Given the description of an element on the screen output the (x, y) to click on. 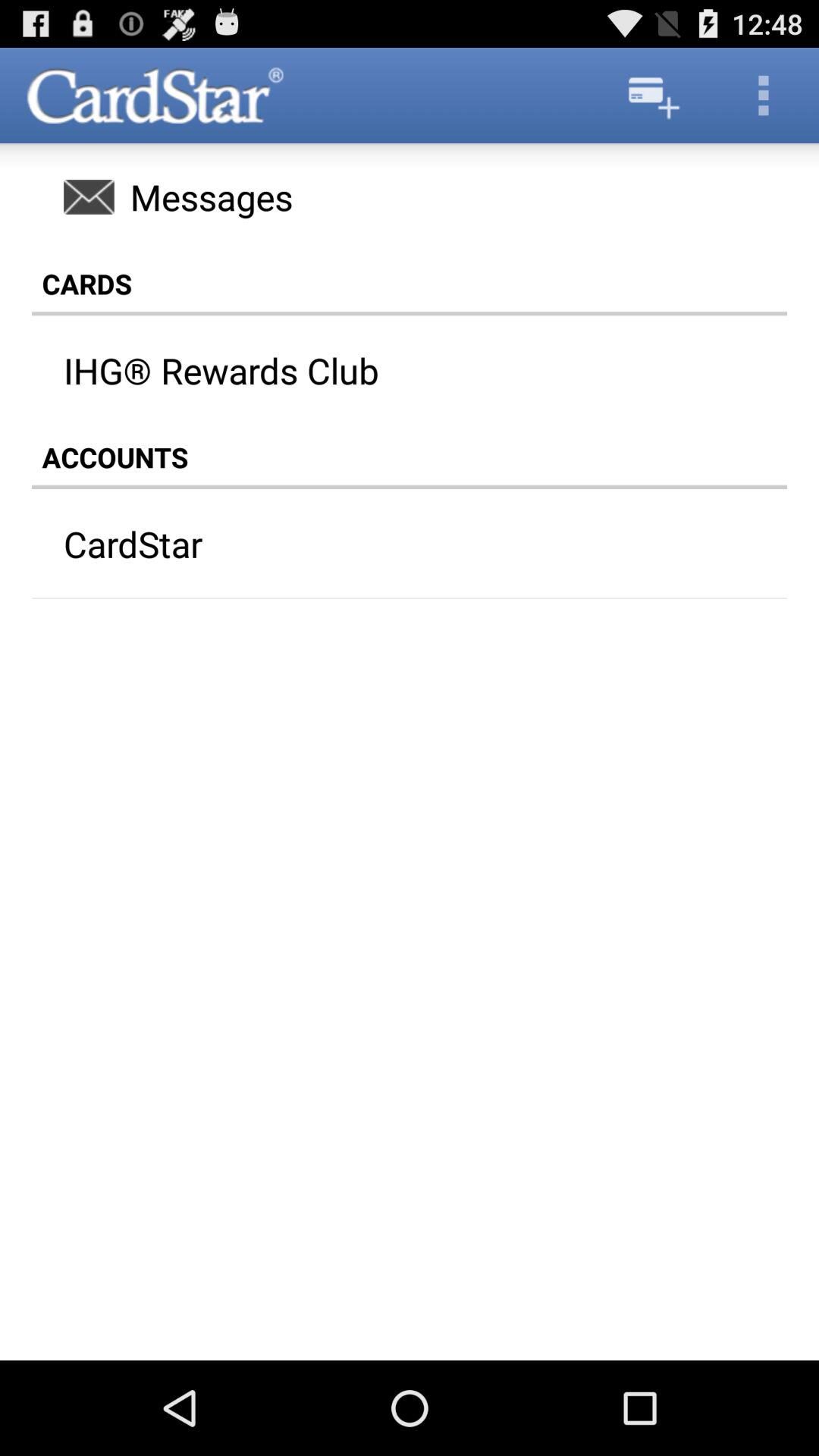
open item above the messages (651, 95)
